Given the description of an element on the screen output the (x, y) to click on. 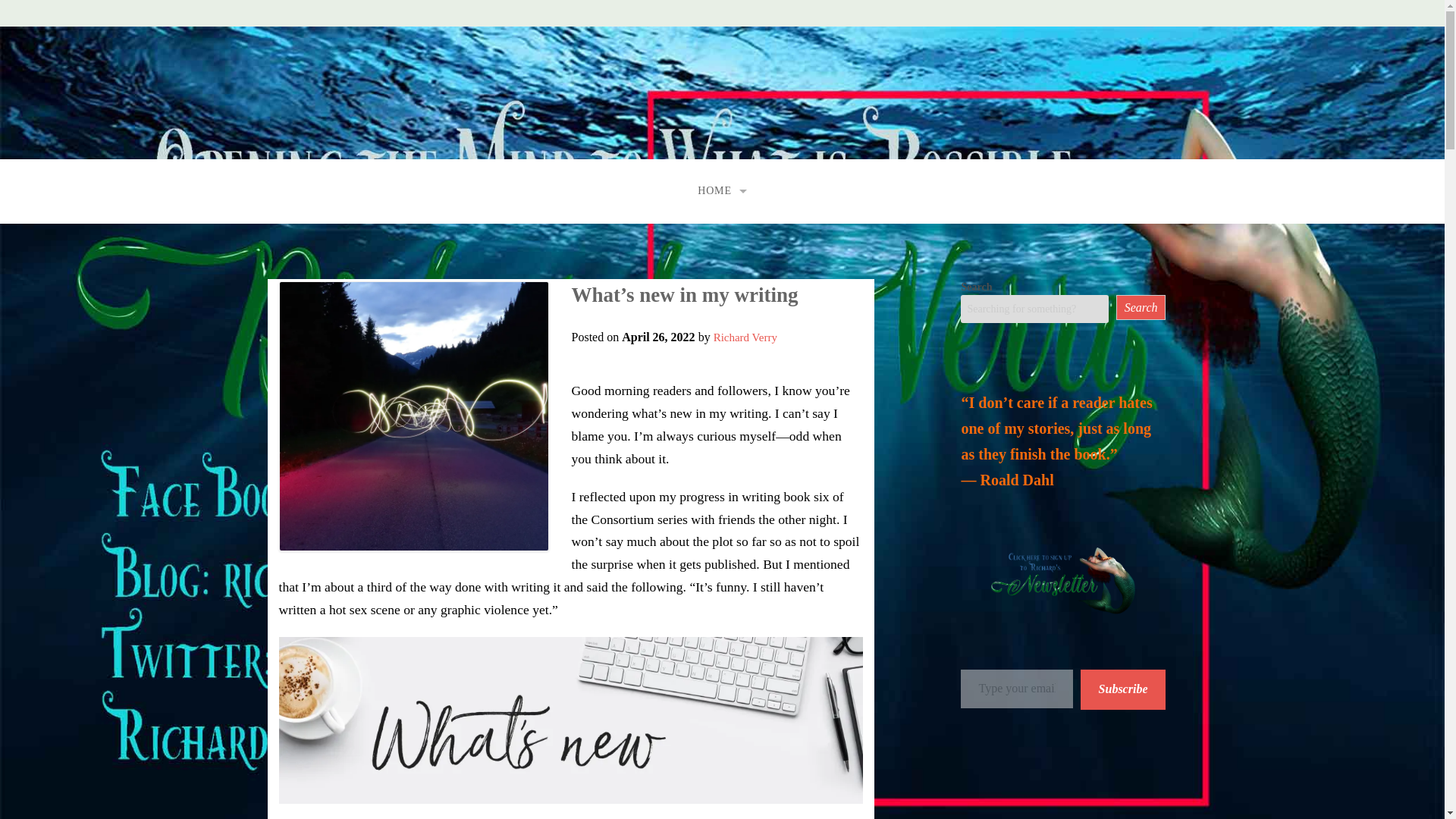
PUBLISHED BOOKS (721, 231)
Stories (721, 231)
FRIENDS (721, 367)
CONSORTIUM SERIES (644, 231)
MERMAIDS (644, 300)
BLOG (721, 299)
SAY HI! (721, 333)
Please fill in this field. (1015, 688)
HER CLIENT TRILOGY (644, 299)
MY MOTTO (644, 266)
THE BREAKUP (644, 333)
April 26, 2022 (657, 336)
ANIMISM (644, 334)
HOME (721, 190)
MONA BENDAROVA SERIES (644, 265)
